Given the description of an element on the screen output the (x, y) to click on. 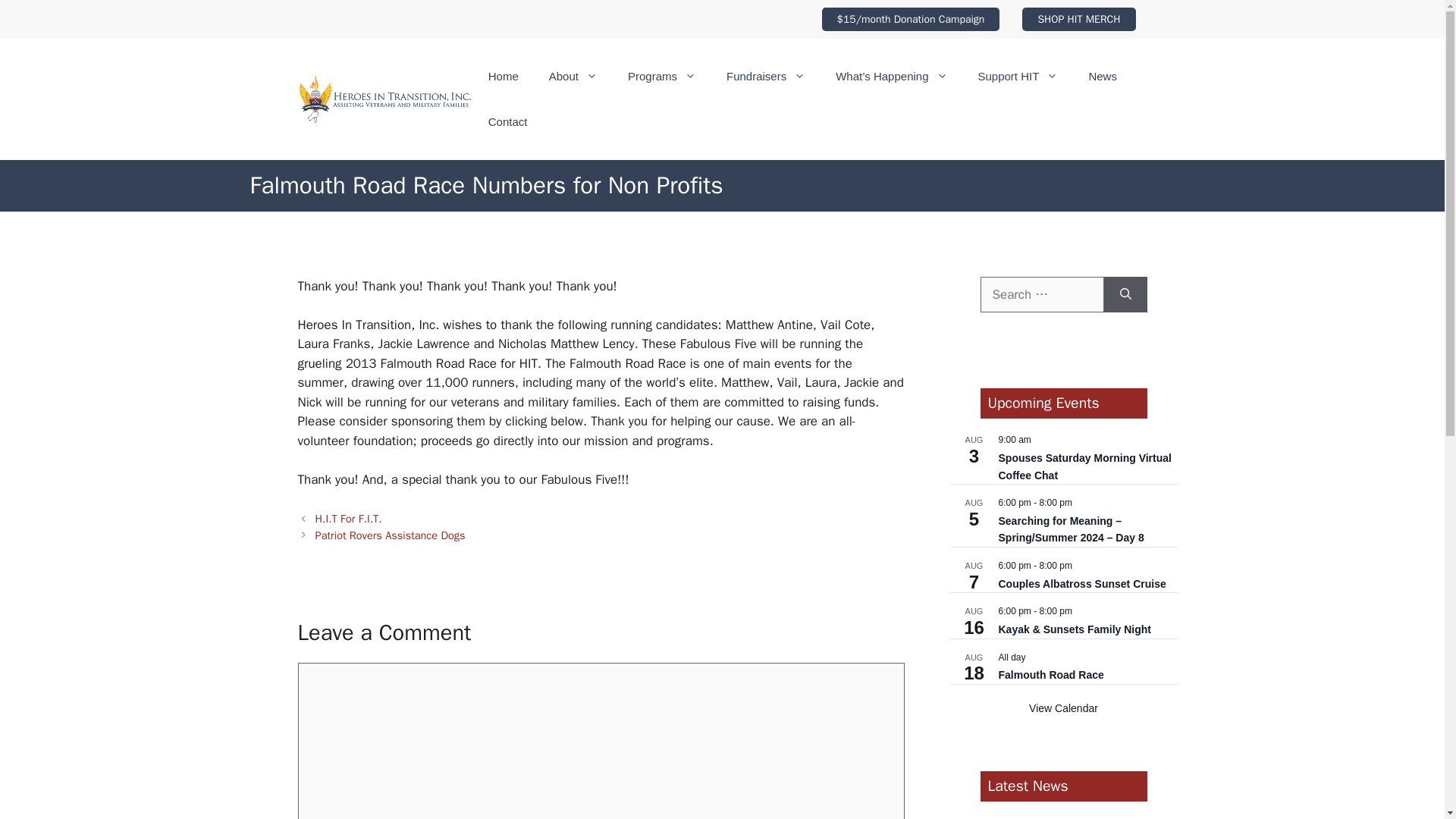
Home (503, 76)
svg-icon 8 (799, 75)
svg-icon 9 (941, 75)
svg-icon 10 (1052, 75)
SHOP HIT MERCH (1078, 19)
About (573, 76)
Support HIT (1018, 76)
svg-icon 7 (689, 75)
Fundraisers (766, 76)
svg-icon 5 (591, 75)
Programs (661, 76)
News (1102, 76)
